Given the description of an element on the screen output the (x, y) to click on. 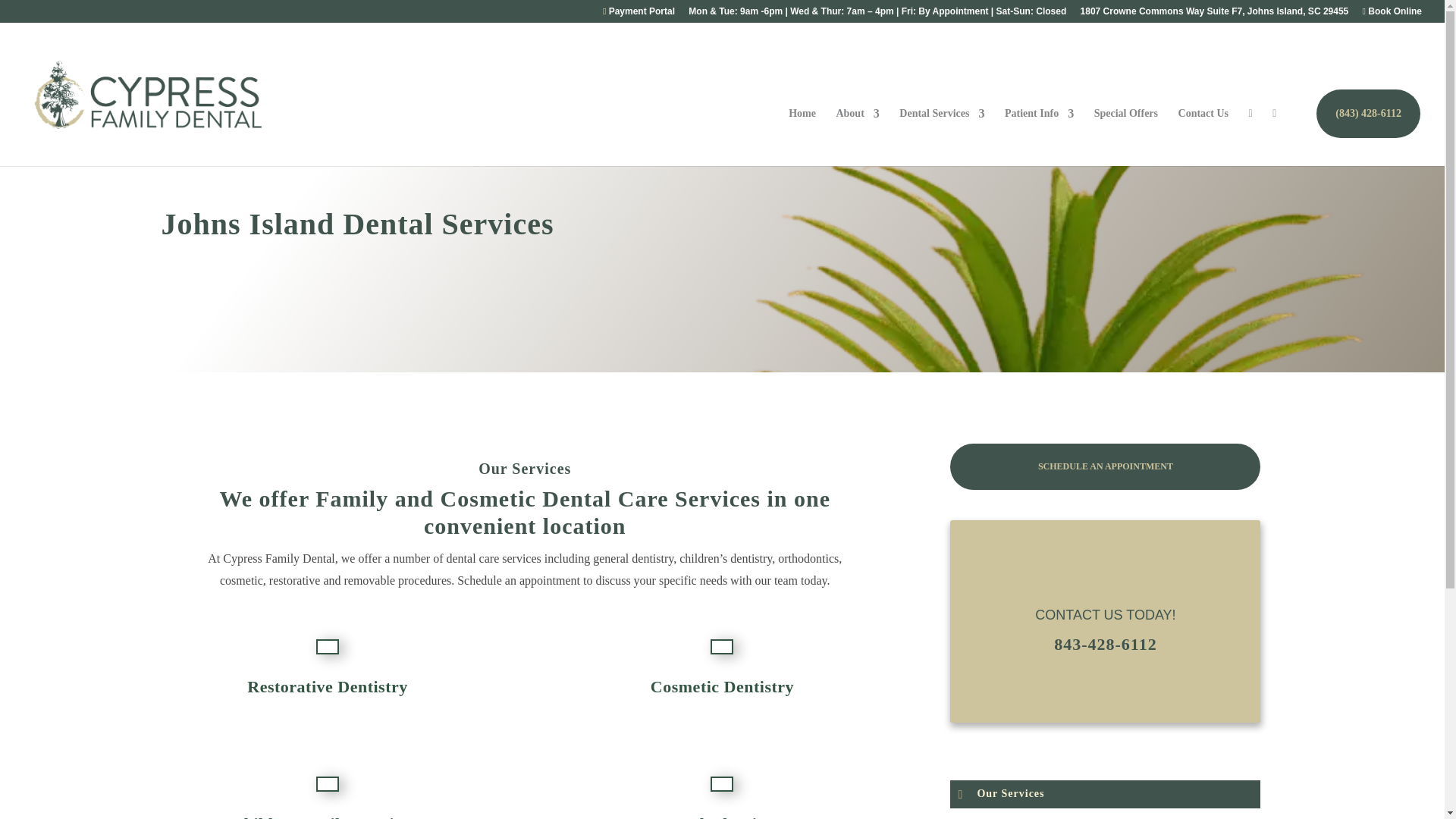
Patient Info (1039, 137)
Payment Portal (638, 14)
Book Online (1392, 14)
1807 Crowne Commons Way Suite F7, Johns Island, SC 29455 (1214, 14)
Dental Services (941, 137)
